Given the description of an element on the screen output the (x, y) to click on. 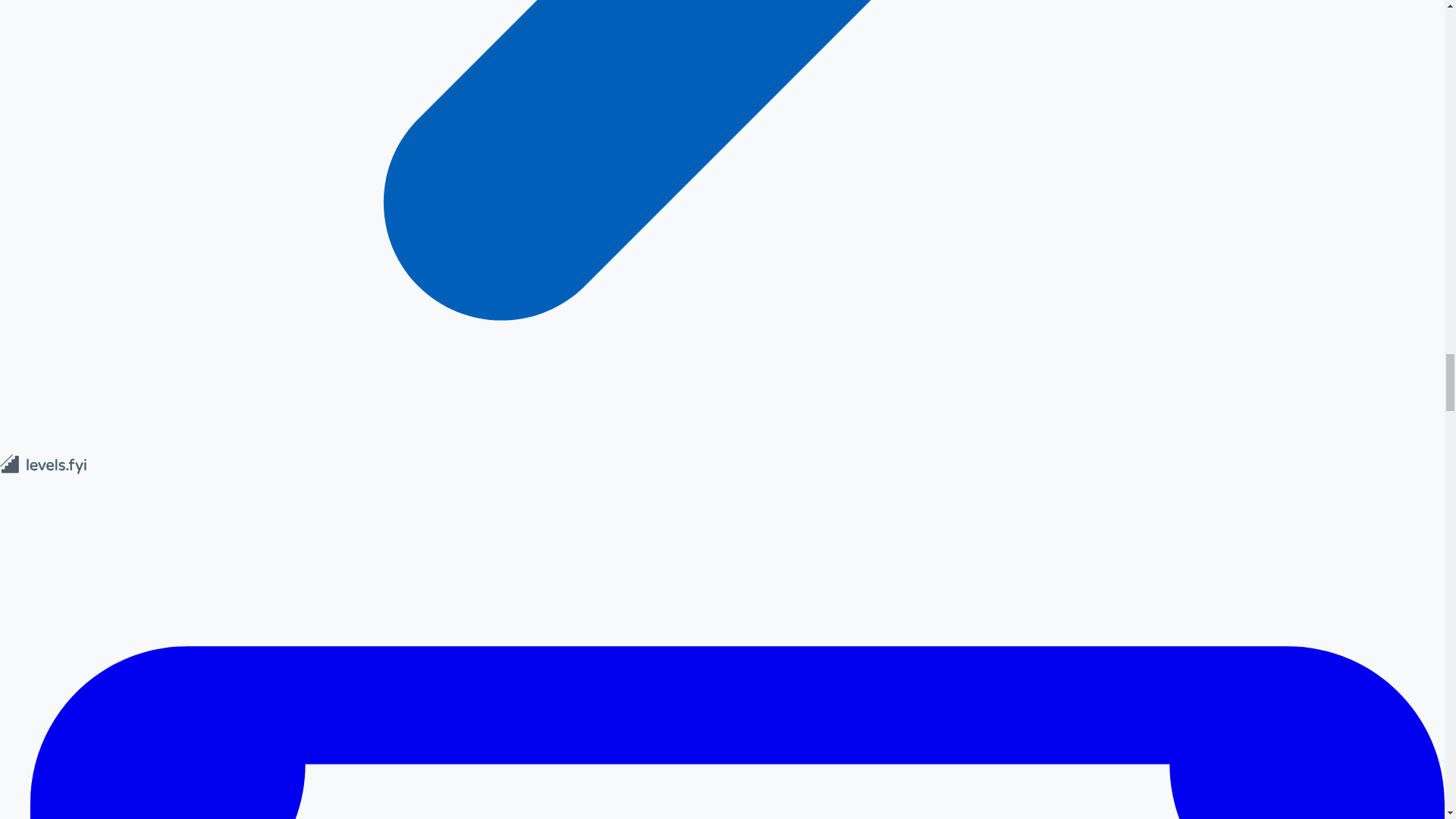
Levels FYI Logo (43, 464)
Levels FYI Logo (43, 470)
